Given the description of an element on the screen output the (x, y) to click on. 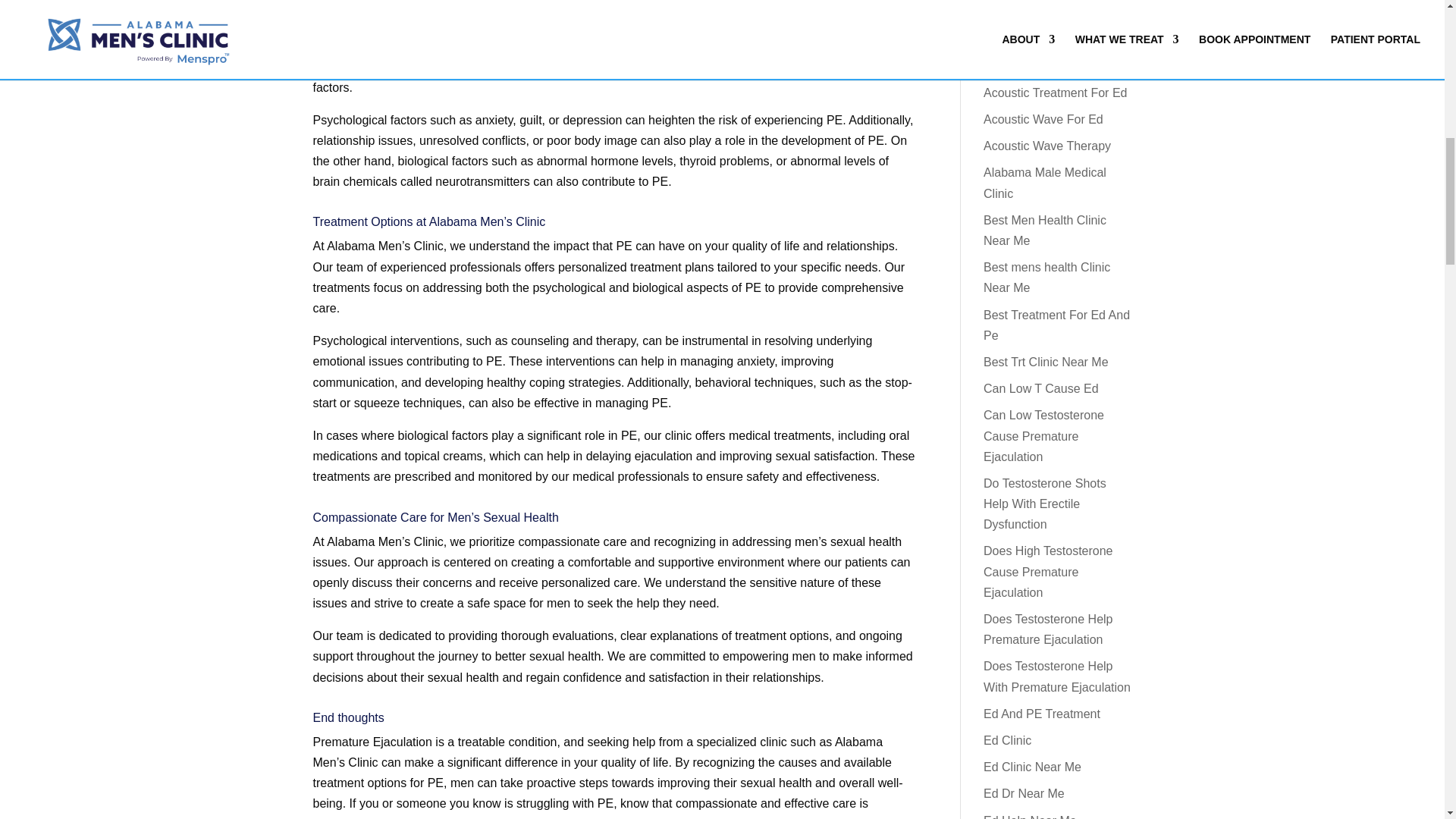
December 2023 (1027, 28)
February 2024 (1023, 4)
Best Men Health Clinic Near Me (1045, 230)
Best mens health Clinic Near Me (1046, 277)
Do Testosterone Shots Help With Erectile Dysfunction (1045, 503)
Best Treatment For Ed And Pe (1056, 325)
Alabama Male Medical Clinic (1045, 182)
Acoustic Wave Therapy (1047, 145)
Acoustic Treatment For Ed (1055, 92)
Does High Testosterone Cause Premature Ejaculation (1048, 571)
